Given the description of an element on the screen output the (x, y) to click on. 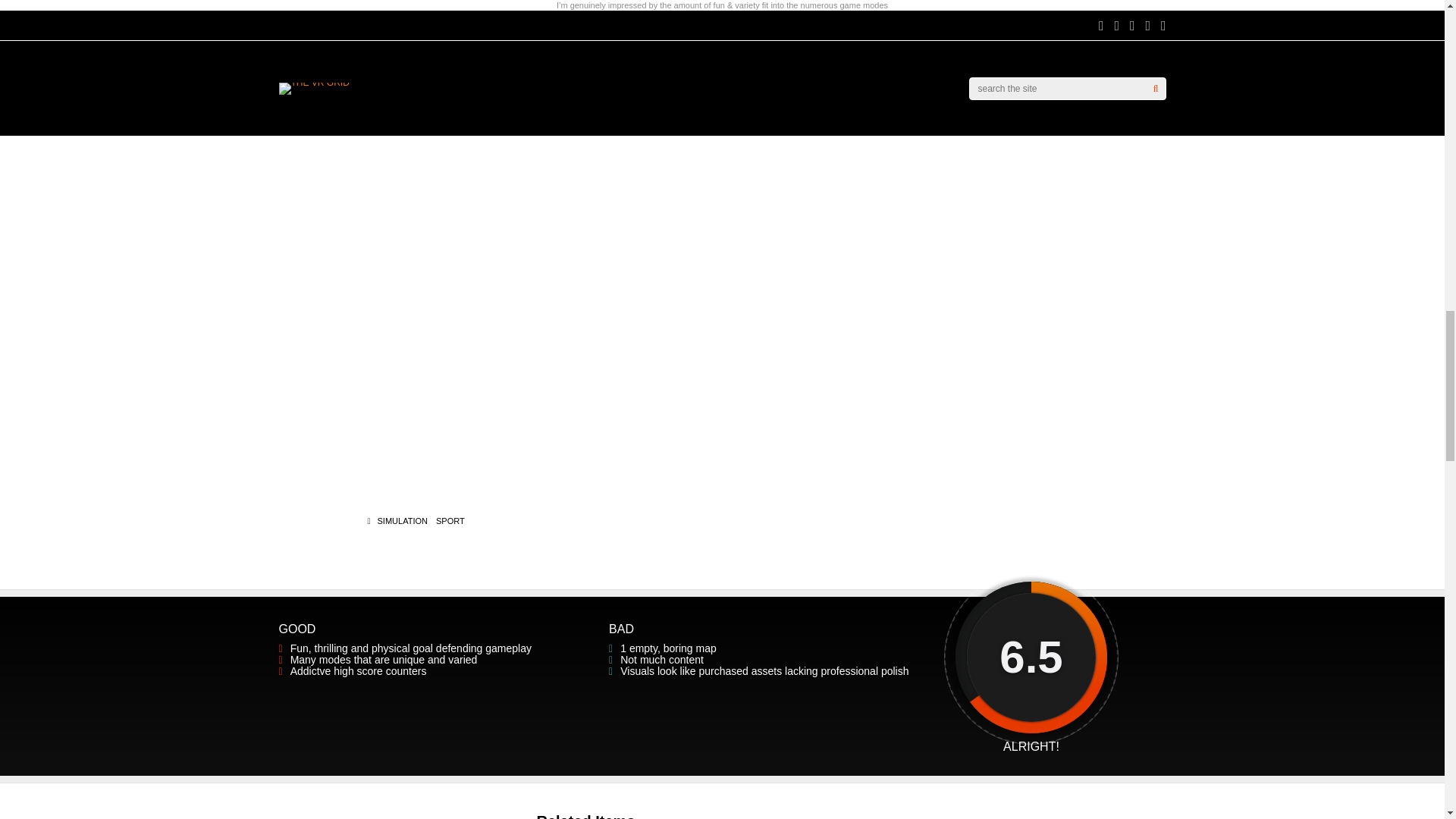
SIMULATION (402, 520)
SPORT (449, 520)
